Given the description of an element on the screen output the (x, y) to click on. 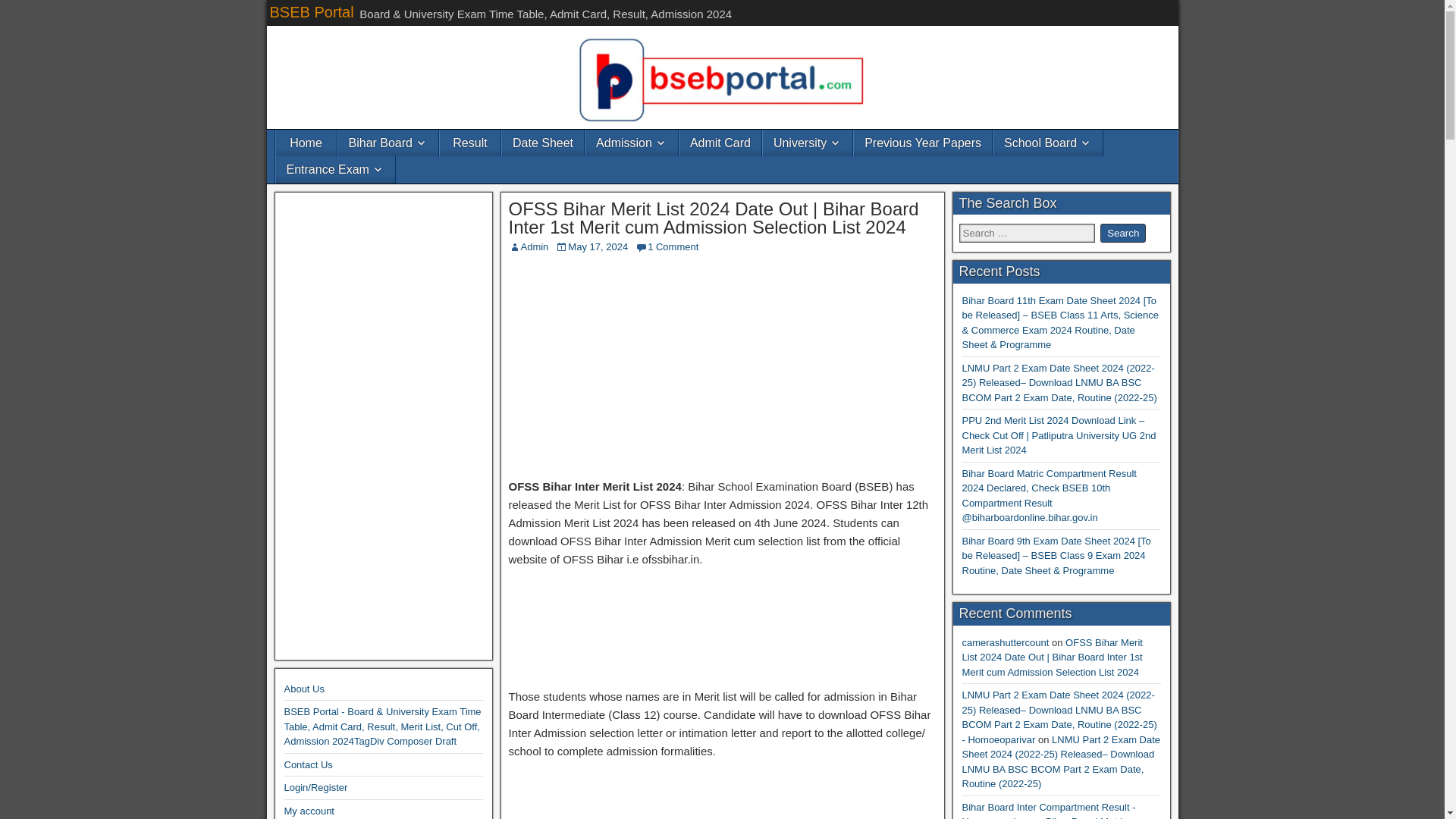
Result (469, 142)
Search (1122, 232)
School Board (1047, 142)
Advertisement (722, 368)
Home (306, 142)
Admission (631, 142)
BSEB Portal (311, 12)
Search (1122, 232)
Advertisement (722, 794)
Bihar Board (388, 142)
University (806, 142)
Previous Year Papers (922, 142)
Advertisement (722, 631)
Date Sheet (542, 142)
Admit Card (720, 142)
